Given the description of an element on the screen output the (x, y) to click on. 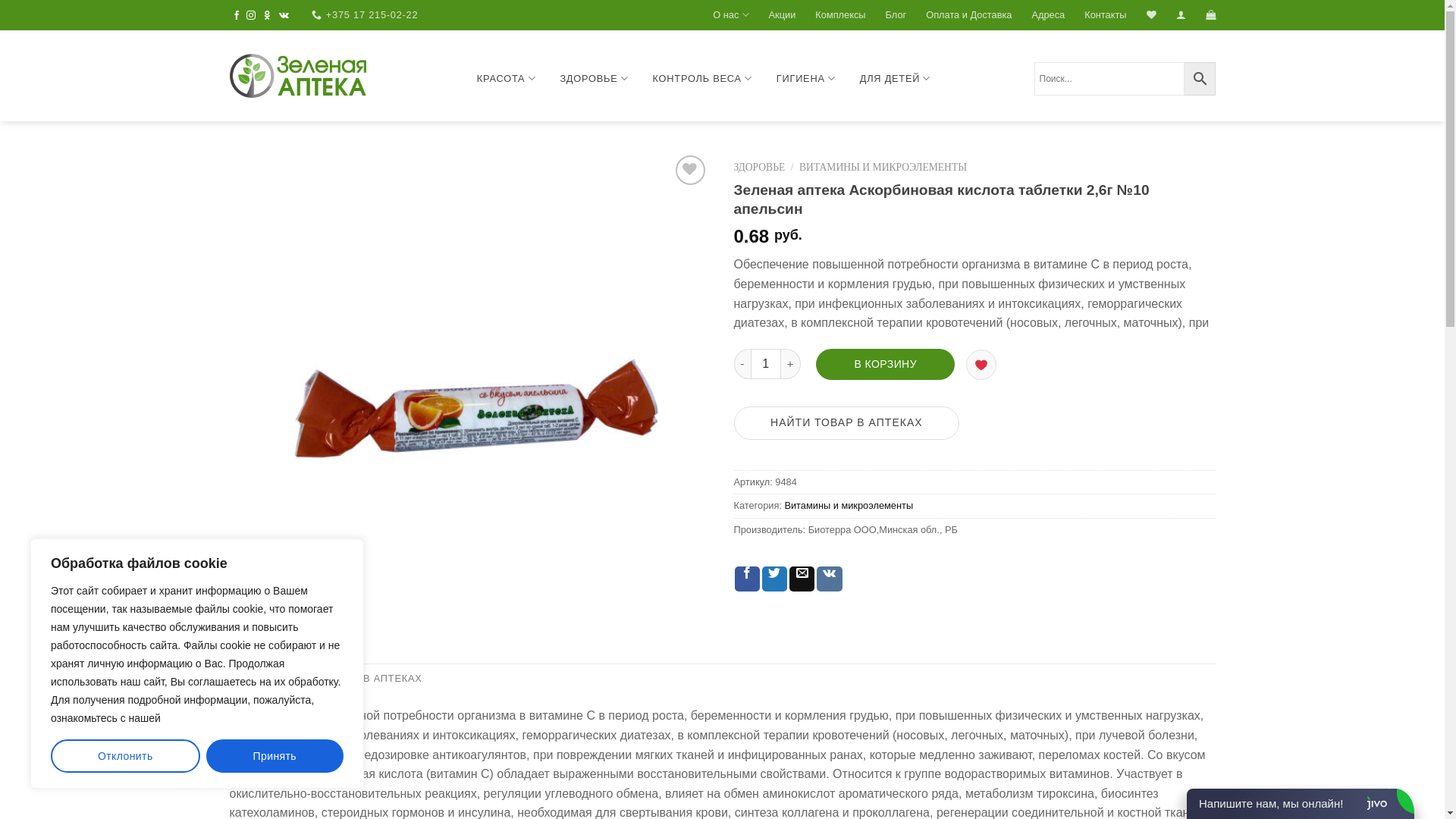
+375 17 215-02-22 Element type: text (364, 14)
1787d01c594_9484.01.jpg Element type: hover (469, 392)
